Given the description of an element on the screen output the (x, y) to click on. 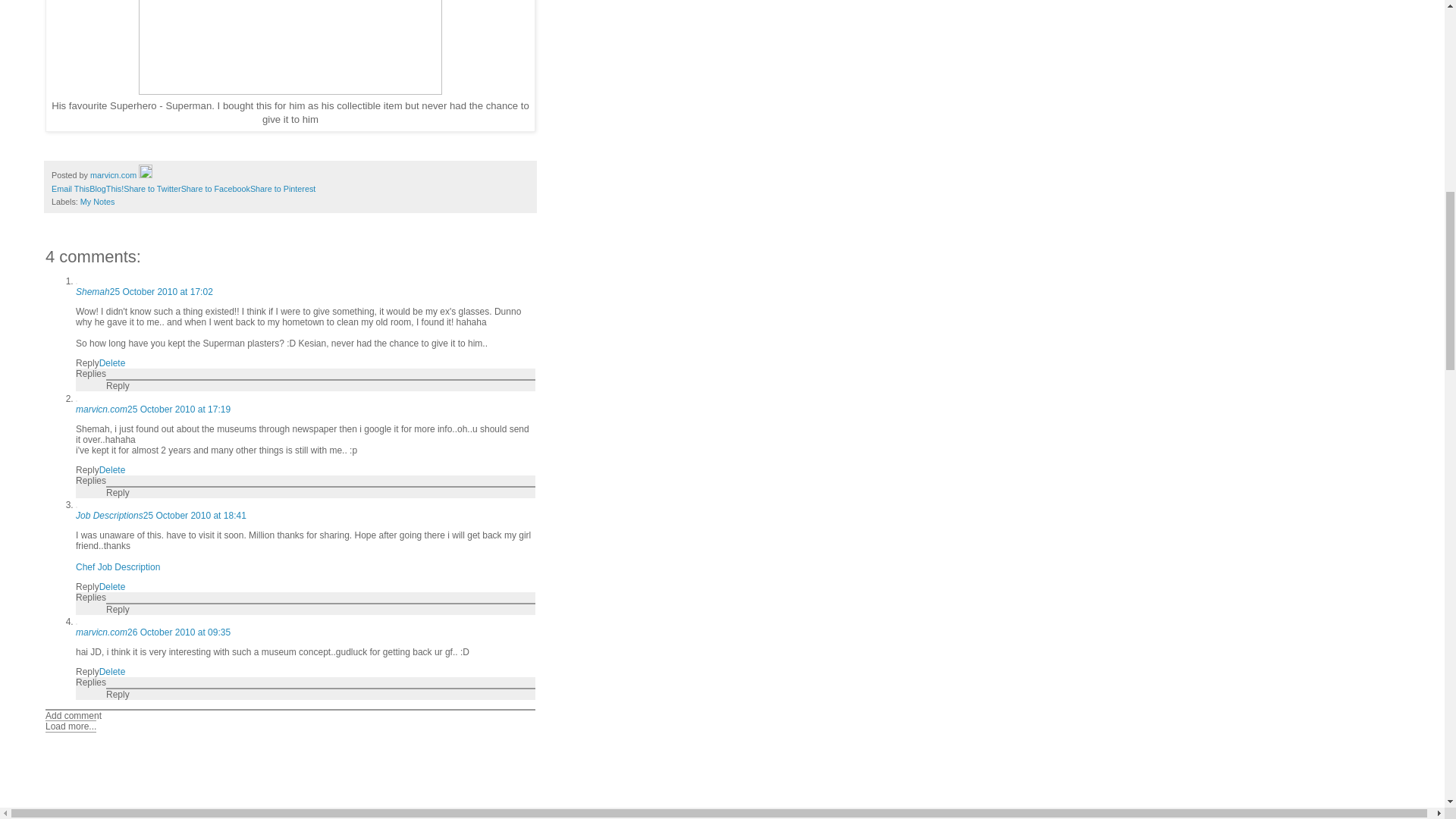
marvicn.com (101, 632)
Share to Facebook (215, 188)
Share to Twitter (151, 188)
Replies (90, 597)
Edit Post (145, 174)
Share to Facebook (215, 188)
Email This (69, 188)
25 October 2010 at 17:19 (179, 408)
Reply (87, 586)
Reply (117, 609)
Chef Job Description (117, 566)
Share to Pinterest (282, 188)
Reply (87, 362)
My Notes (97, 201)
Reply (117, 385)
